Given the description of an element on the screen output the (x, y) to click on. 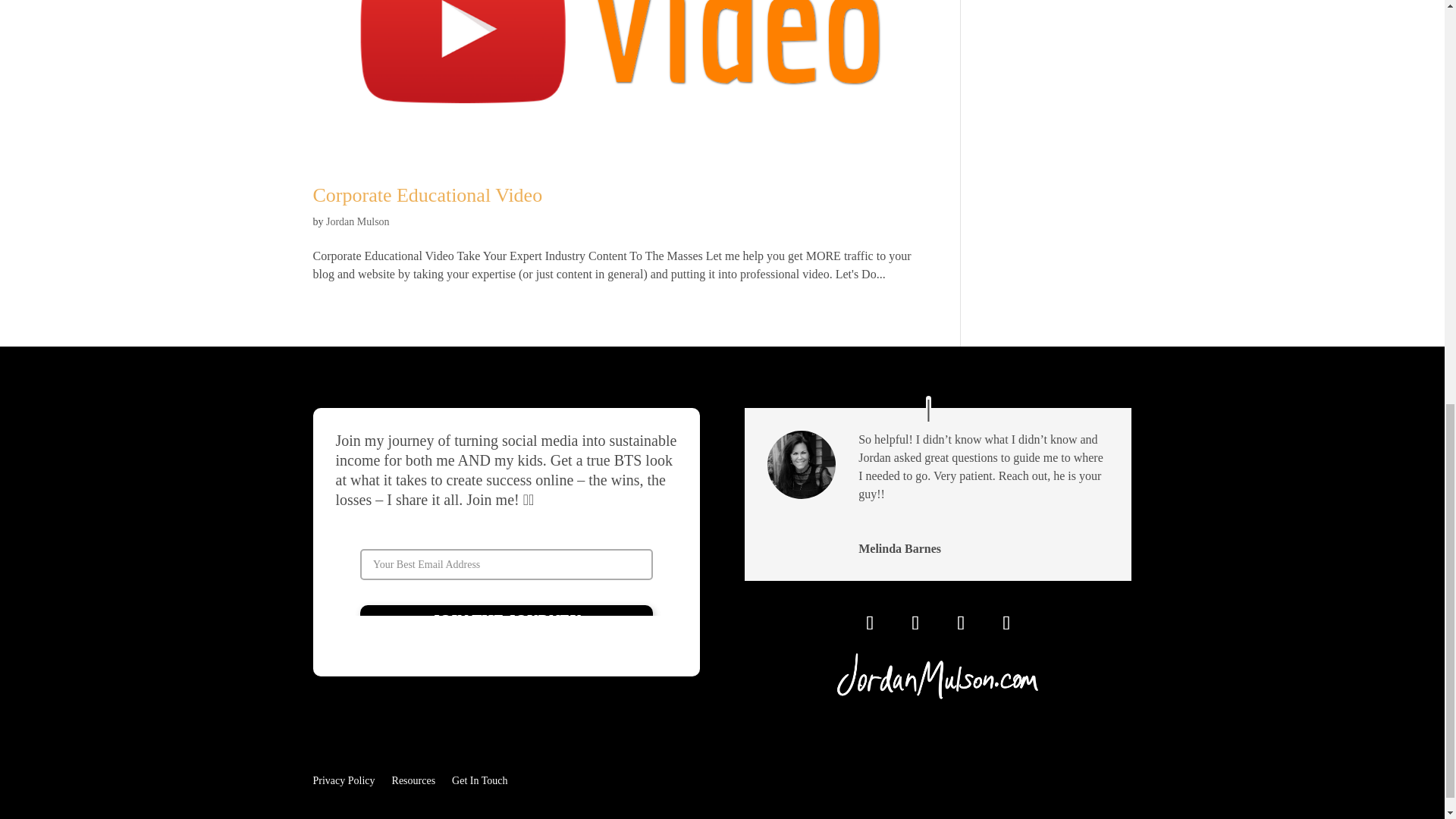
Resources (413, 777)
Follow on X (959, 622)
Jordan Mulson (358, 221)
Follow on LinkedIn (1006, 622)
Posts by Jordan Mulson (358, 221)
Privacy Policy (343, 777)
Get In Touch (478, 777)
JordanMulson.com Handwritten White (938, 676)
Follow on Instagram (869, 622)
Corporate Educational Video (427, 195)
